Given the description of an element on the screen output the (x, y) to click on. 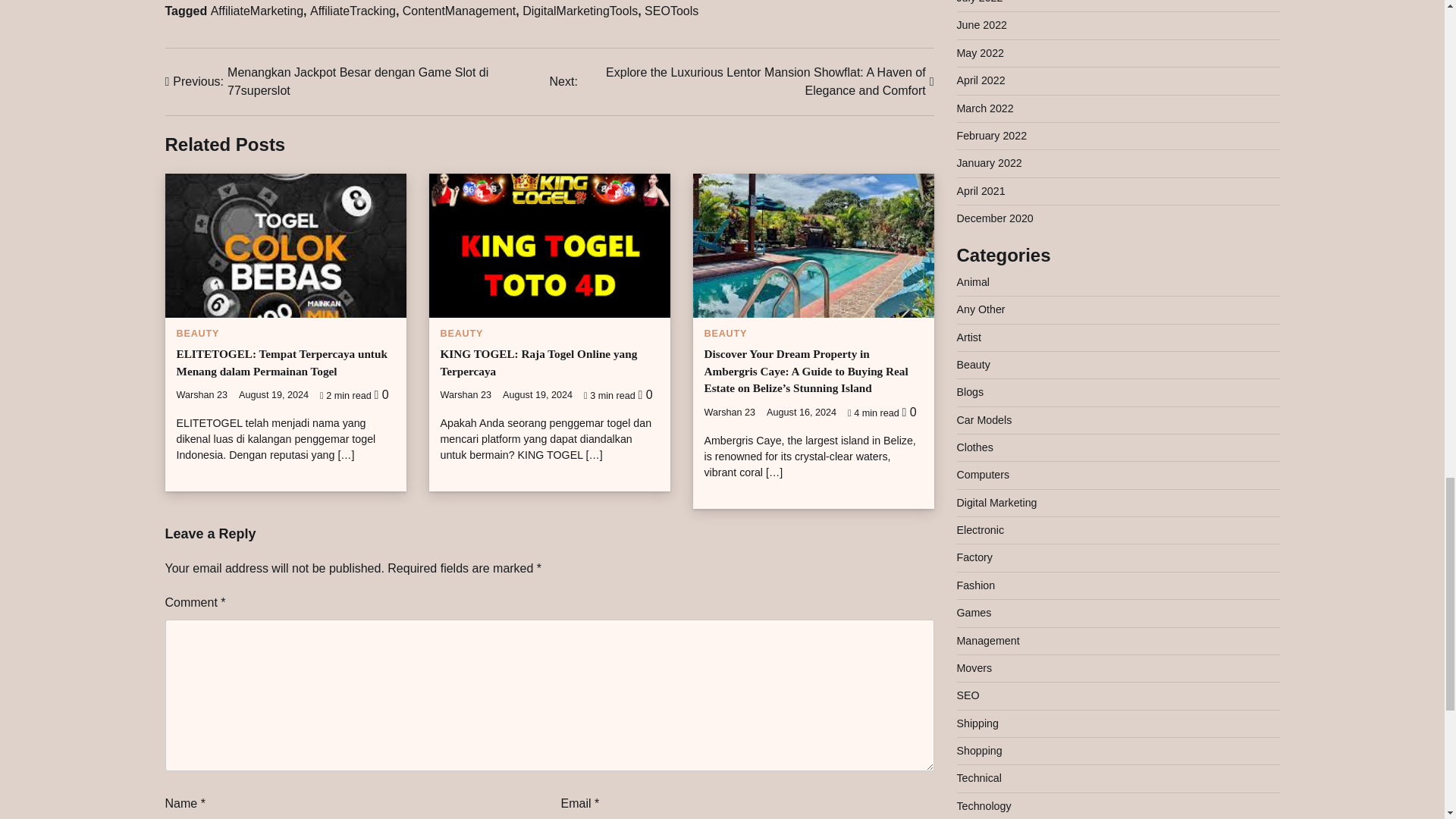
AffiliateTracking (353, 10)
BEAUTY (724, 333)
Warshan 23 (729, 412)
BEAUTY (197, 333)
AffiliateMarketing (256, 10)
KING TOGEL: Raja Togel Online yang Terpercaya (538, 362)
Warshan 23 (201, 394)
BEAUTY (461, 333)
